Given the description of an element on the screen output the (x, y) to click on. 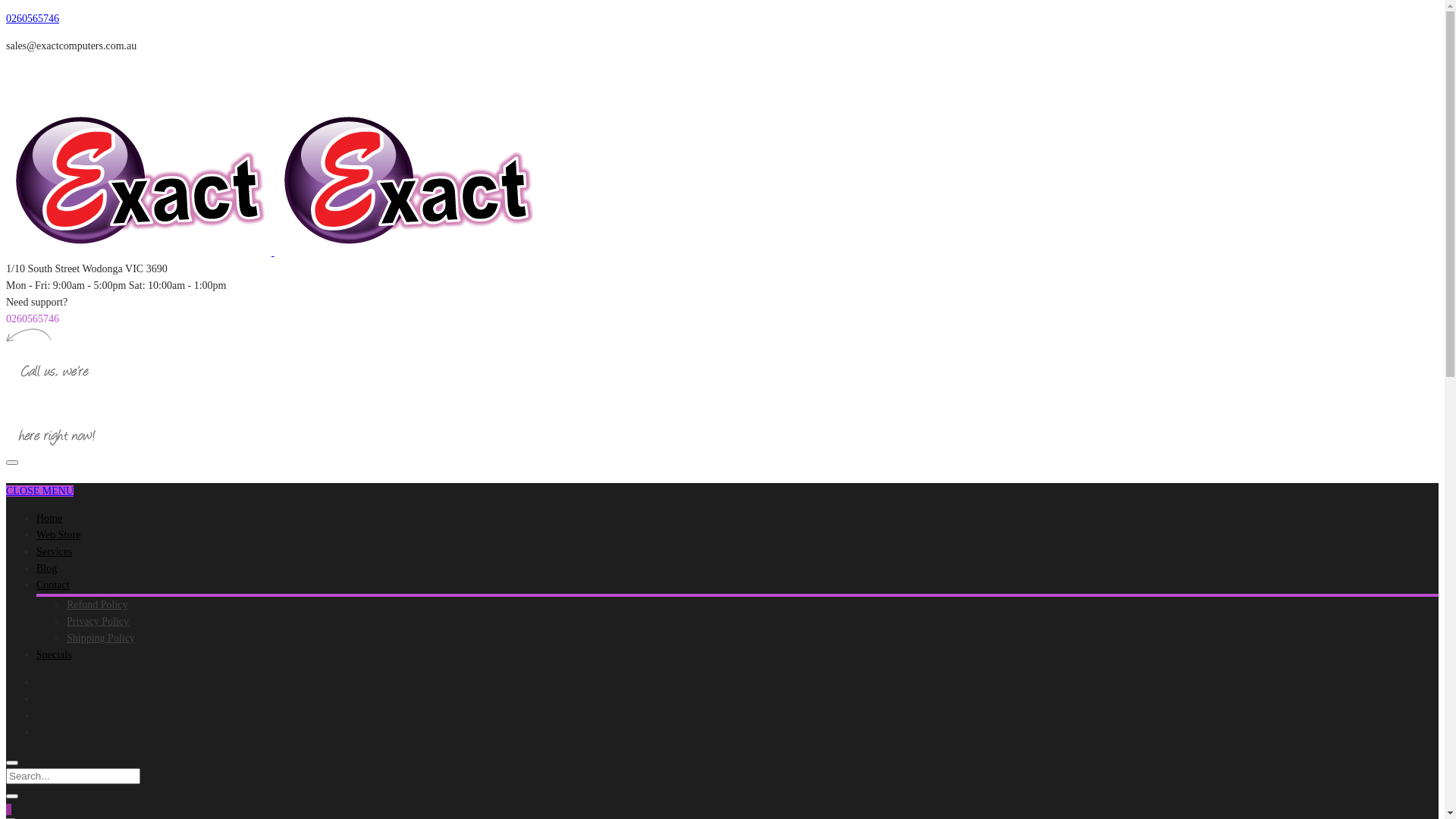
Contact Element type: text (52, 584)
Refund Policy Element type: text (97, 604)
Specials Element type: text (54, 654)
CLOSE MENU Element type: text (39, 490)
Web Store Element type: text (58, 534)
Shipping Policy Element type: text (100, 637)
Blog Element type: text (46, 568)
0260565746 Element type: text (32, 18)
Privacy Policy Element type: text (97, 621)
Home Element type: text (49, 518)
1 Element type: text (8, 809)
Services Element type: text (54, 551)
